Given the description of an element on the screen output the (x, y) to click on. 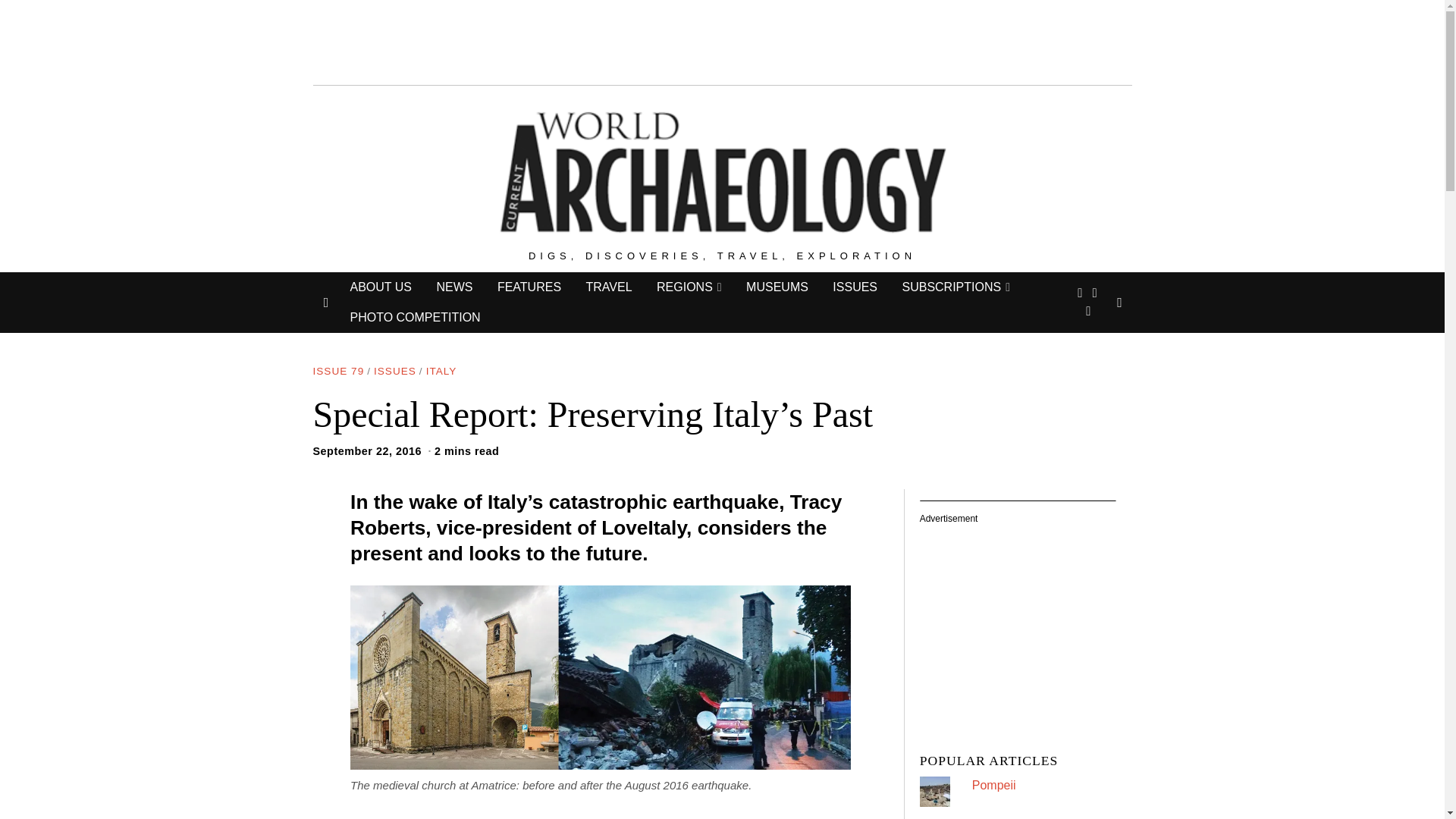
3rd party ad content (1028, 620)
REGIONS (689, 286)
FEATURES (529, 286)
ABOUT US (380, 286)
NEWS (454, 286)
TRAVEL (608, 286)
3rd party ad content (721, 38)
Pompeii (994, 784)
